Given the description of an element on the screen output the (x, y) to click on. 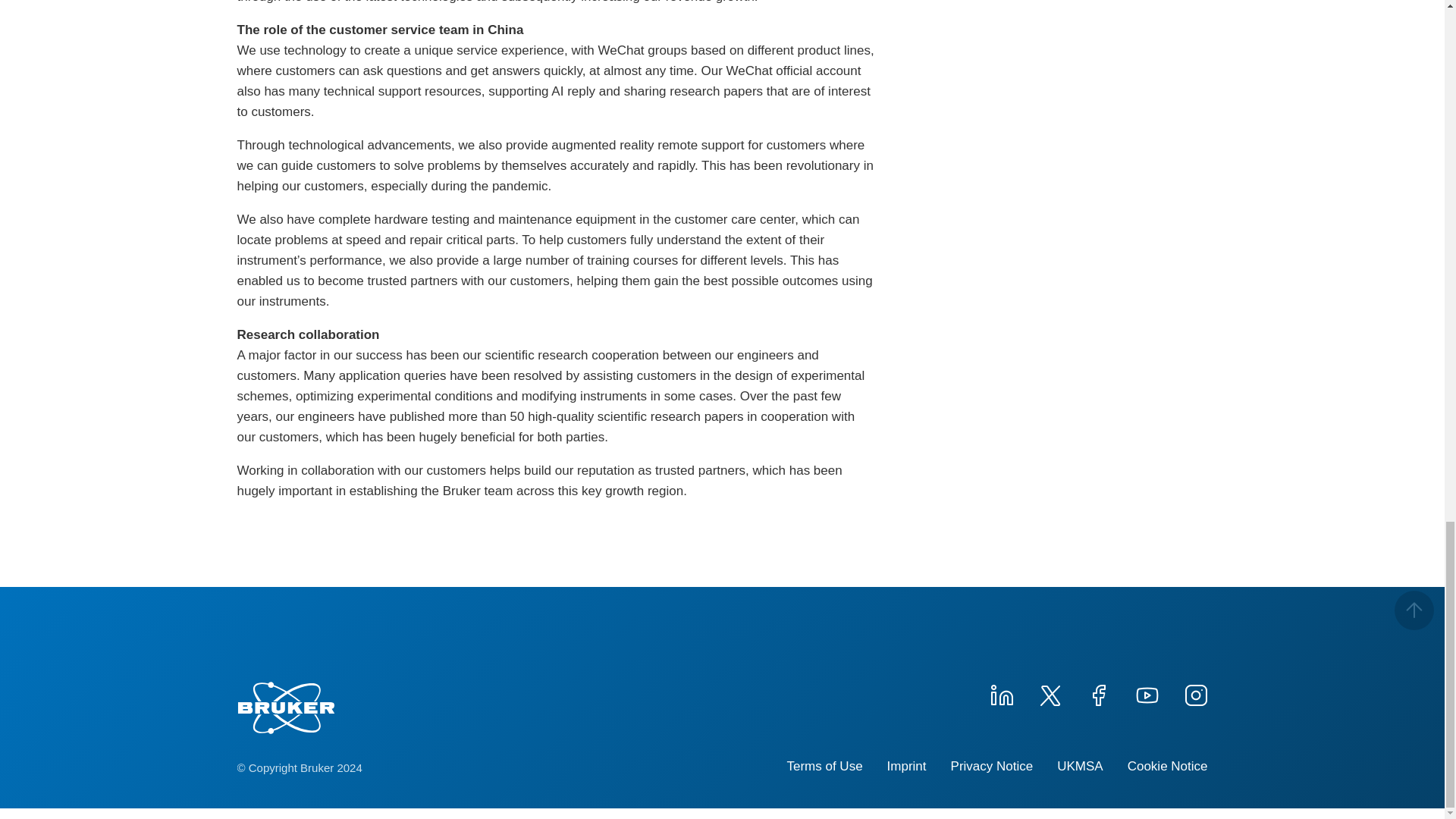
UKMSA (1079, 766)
linkedin (1000, 693)
youtube (1146, 693)
Privacy Notice (991, 766)
facebook (1097, 693)
Cookie Notice (1167, 766)
twitter (1048, 693)
instagram (1194, 693)
Imprint (906, 766)
Terms of Use (823, 766)
